Given the description of an element on the screen output the (x, y) to click on. 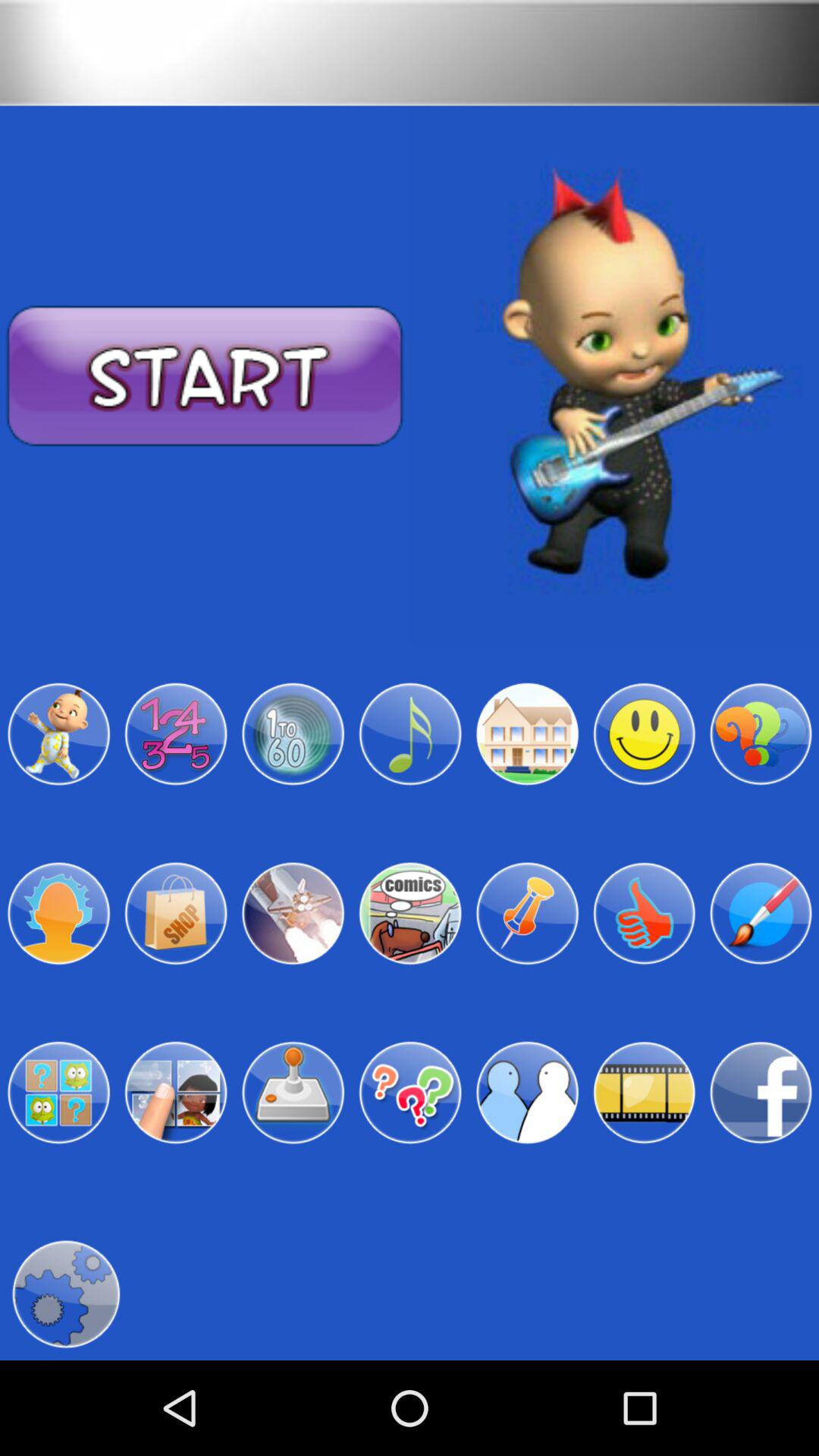
numbers (175, 734)
